Given the description of an element on the screen output the (x, y) to click on. 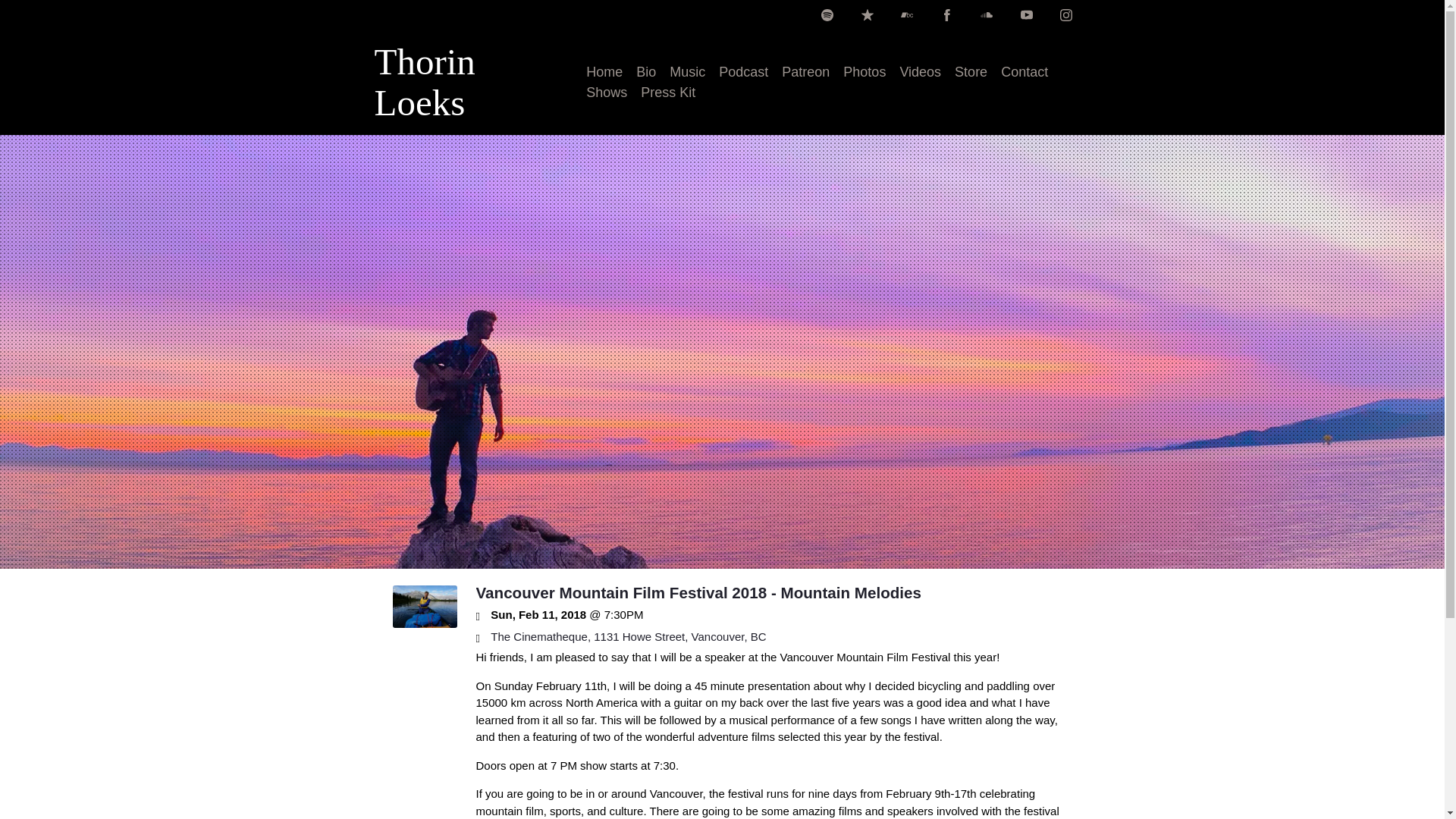
Thorin Loeks (459, 107)
Music (686, 72)
Photos (864, 72)
Bio (646, 72)
Contact (1024, 72)
Home (604, 72)
Podcast (743, 72)
Vancouver Mountain Film Festival 2018 - Mountain Melodies (698, 592)
Shows (606, 92)
Store (971, 72)
